Given the description of an element on the screen output the (x, y) to click on. 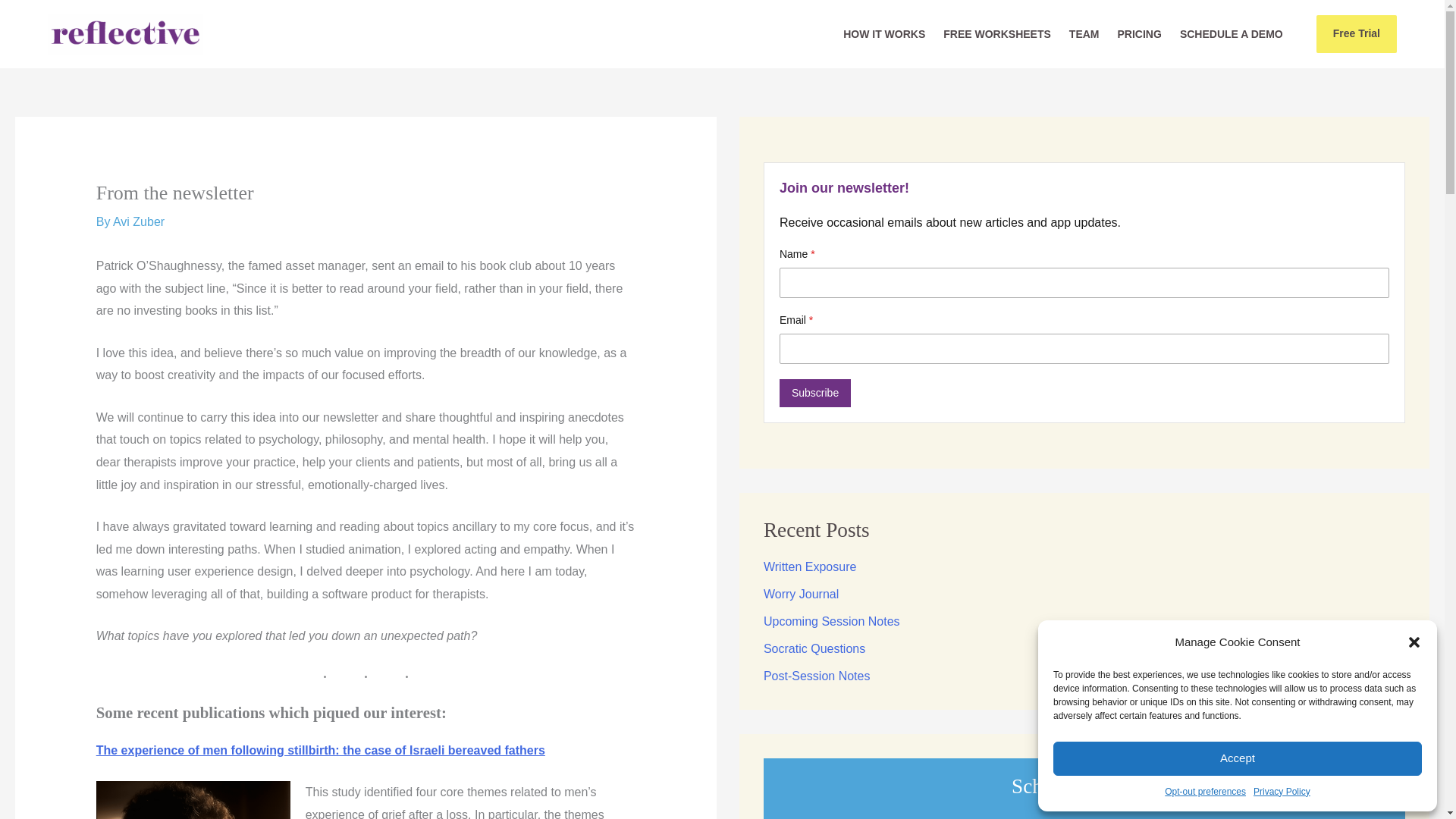
Accept (1237, 758)
FREE WORKSHEETS (996, 34)
HOW IT WORKS (884, 34)
Free Trial (1351, 34)
Opt-out preferences (1205, 791)
Avi Zuber (138, 221)
Privacy Policy (1281, 791)
SCHEDULE A DEMO (1231, 34)
View all posts by Avi Zuber (138, 221)
